Given the description of an element on the screen output the (x, y) to click on. 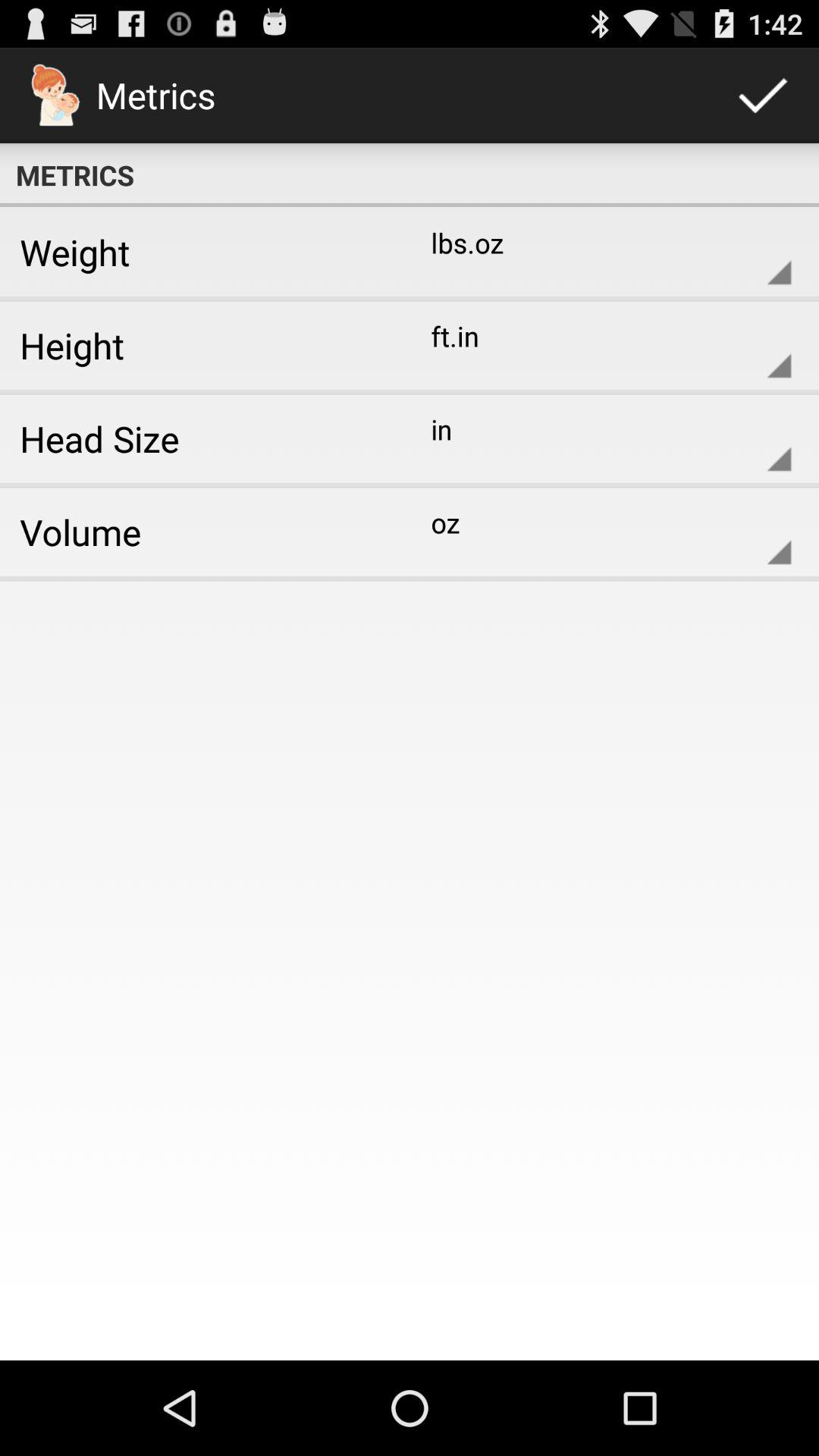
select icon to the right of the weight item (599, 252)
